Given the description of an element on the screen output the (x, y) to click on. 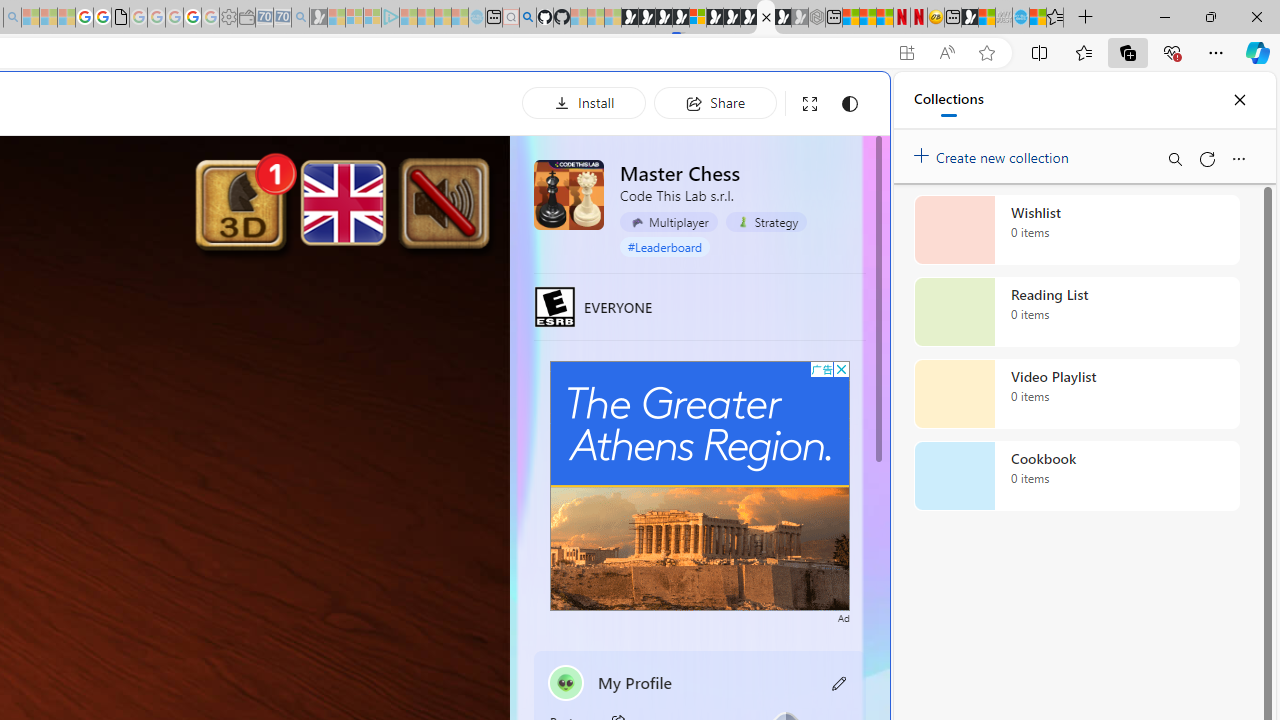
Frequently visited (418, 265)
More options menu (1238, 158)
#Leaderboard (664, 246)
AutomationID: cbb (841, 369)
Class: button edit-icon (839, 683)
Bing Real Estate - Home sales and rental listings - Sleeping (299, 17)
